Given the description of an element on the screen output the (x, y) to click on. 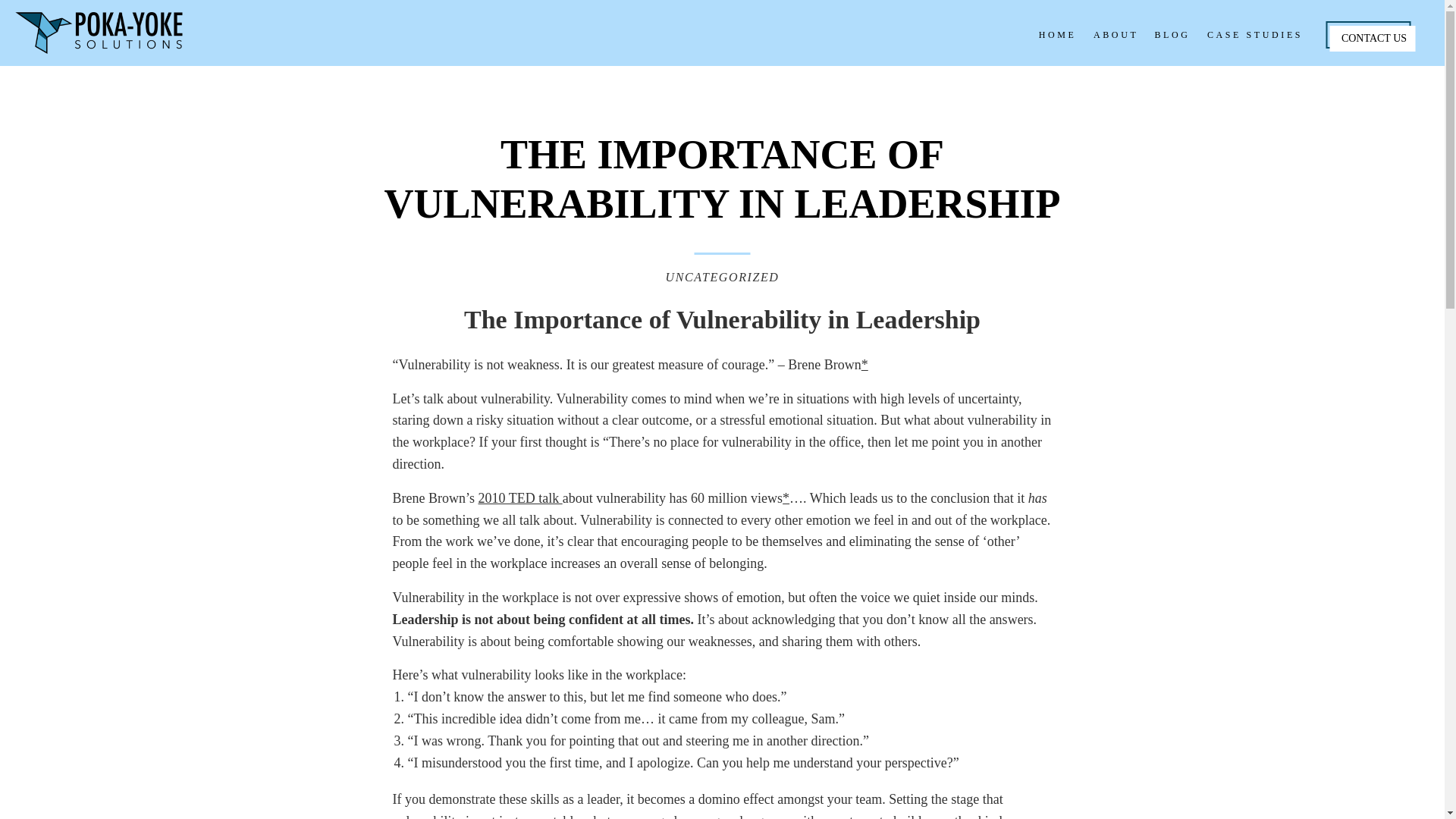
2010 TED talk (519, 498)
CASE STUDIES (1255, 35)
HOME (1056, 35)
BLOG (1172, 35)
UNCATEGORIZED (721, 277)
CONTACT US (1373, 37)
ABOUT (1115, 35)
